Given the description of an element on the screen output the (x, y) to click on. 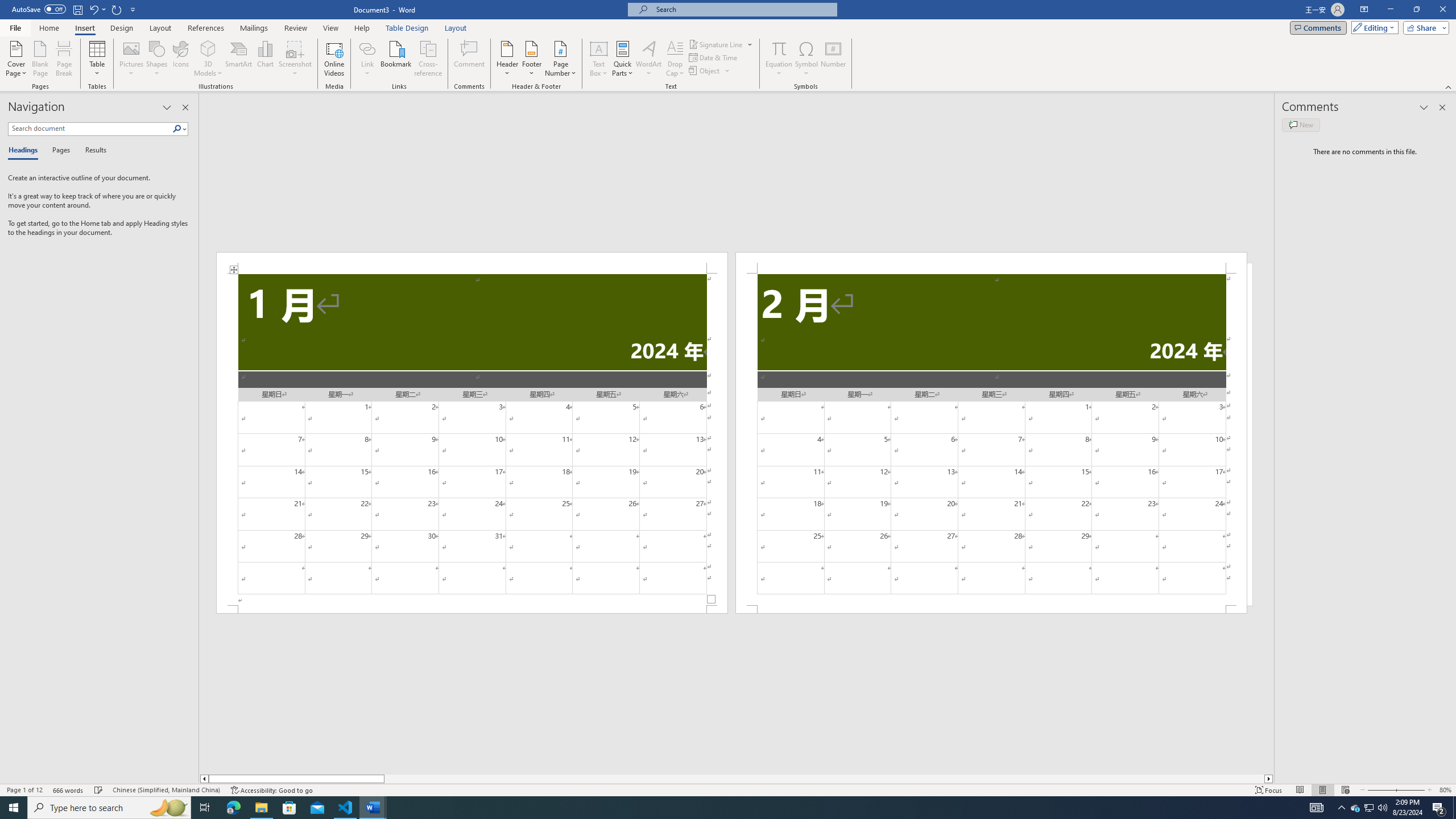
Comment (469, 58)
Results (91, 150)
Object... (705, 69)
Footer -Section 1- (471, 609)
Icons (180, 58)
Page Number Page 1 of 12 (24, 790)
Class: NetUIScrollBar (736, 778)
Quick Parts (622, 58)
Page Break (63, 58)
Link (367, 48)
